Given the description of an element on the screen output the (x, y) to click on. 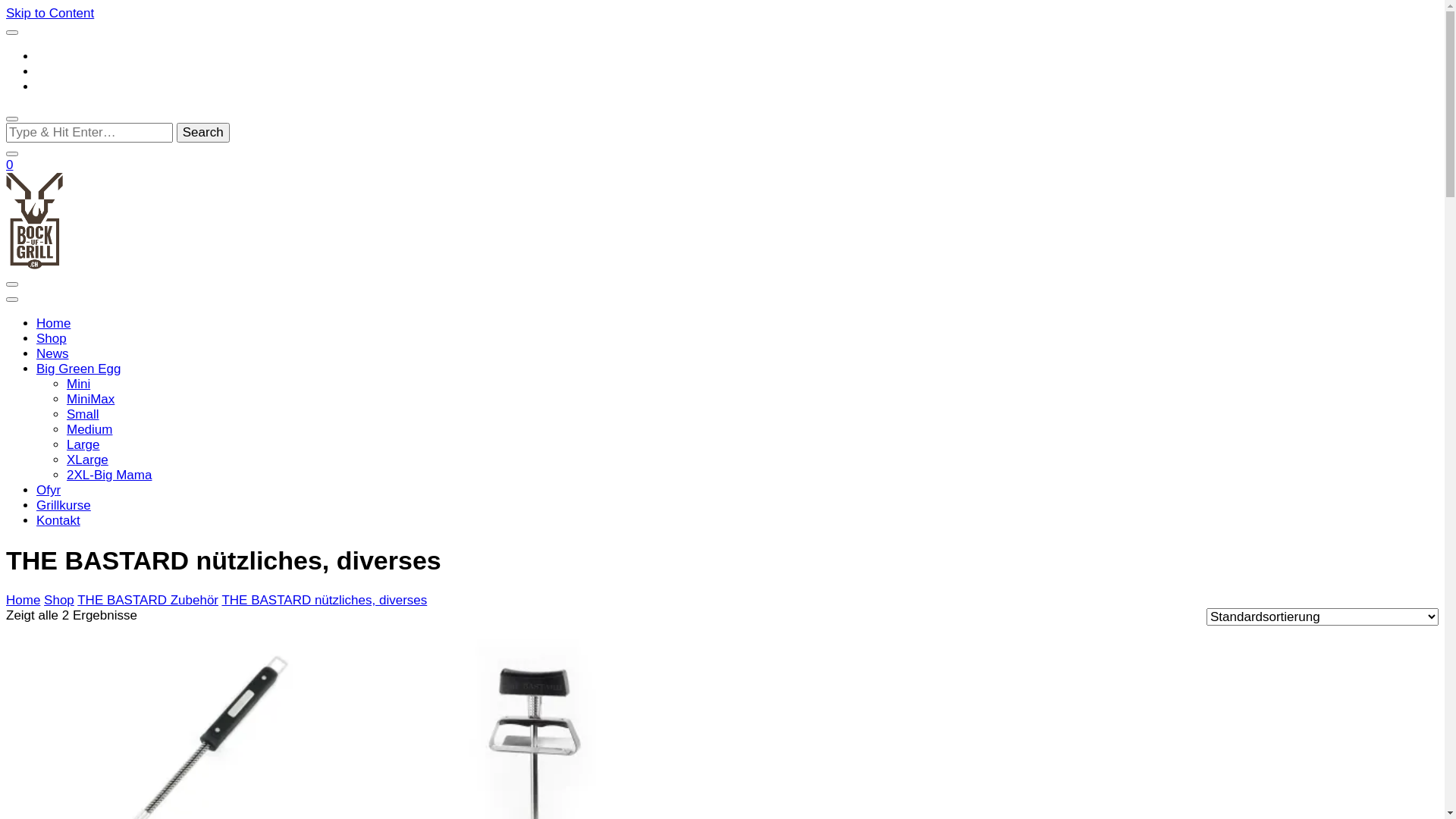
Shop Element type: text (51, 338)
Home Element type: text (23, 600)
2XL-Big Mama Element type: text (108, 474)
News Element type: text (52, 353)
Medium Element type: text (89, 429)
Shop Element type: text (58, 600)
Kontakt Element type: text (58, 520)
0 Element type: text (9, 164)
Search Element type: text (202, 132)
Home Element type: text (53, 323)
Bock uf Grill Element type: text (62, 310)
Ofyr Element type: text (48, 490)
XLarge Element type: text (87, 459)
MiniMax Element type: text (90, 399)
Large Element type: text (82, 444)
Big Green Egg Element type: text (78, 368)
Small Element type: text (82, 414)
Mini Element type: text (78, 383)
Skip to Content Element type: text (50, 13)
Grillkurse Element type: text (63, 505)
